Given the description of an element on the screen output the (x, y) to click on. 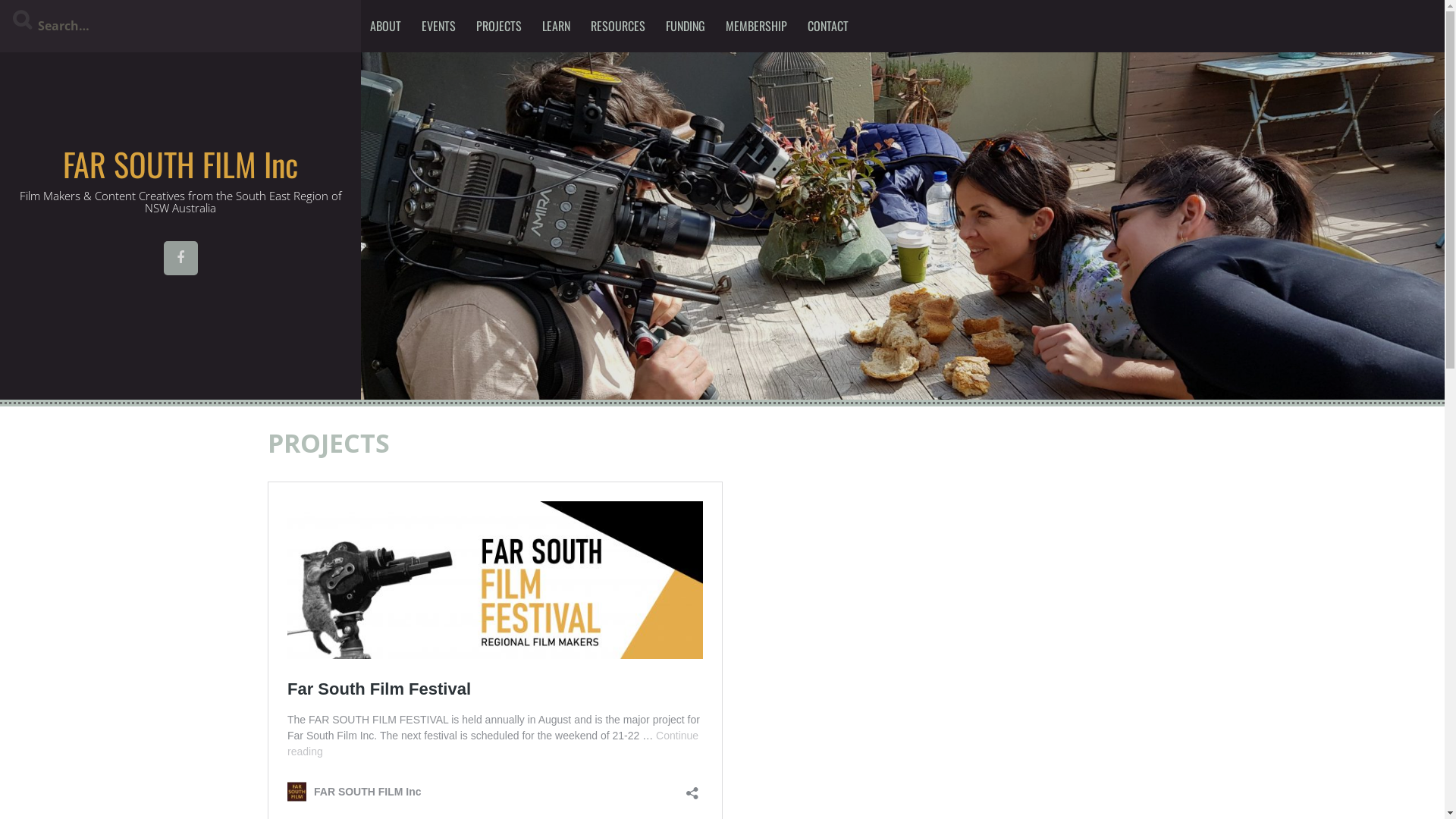
FAR SOUTH FILM Inc Element type: text (180, 163)
LEARN Element type: text (556, 26)
FUNDING Element type: text (685, 26)
Search for: Element type: hover (180, 26)
ABOUT Element type: text (385, 26)
EVENTS Element type: text (438, 26)
CONTACT Element type: text (827, 26)
PROJECTS Element type: text (498, 26)
MEMBERSHIP Element type: text (756, 26)
RESOURCES Element type: text (617, 26)
